Given the description of an element on the screen output the (x, y) to click on. 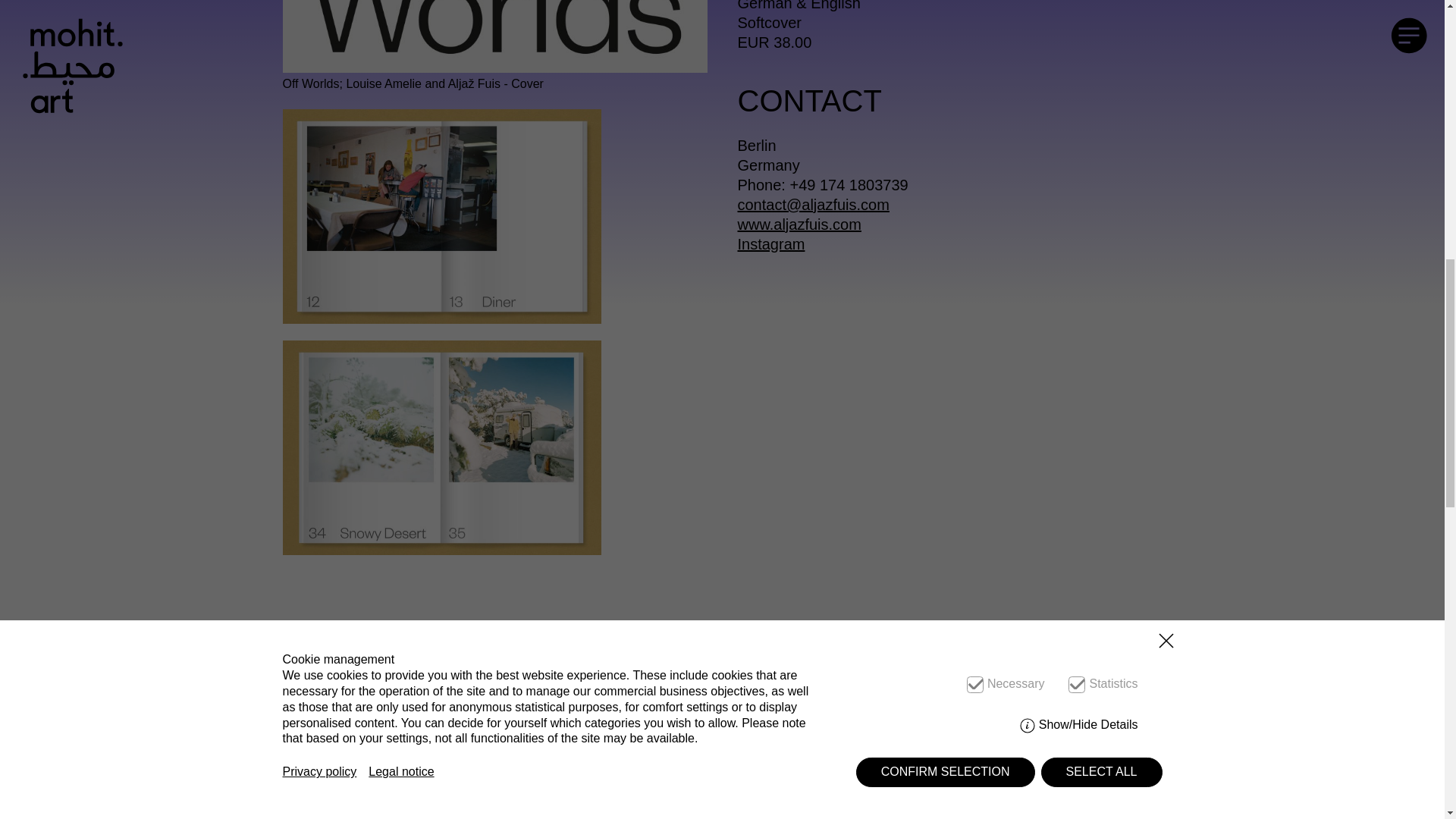
Instagram (770, 243)
Ali Golestaneh (361, 653)
Ali Golestaneh  (361, 653)
www.aljazfuis.com (798, 224)
